Given the description of an element on the screen output the (x, y) to click on. 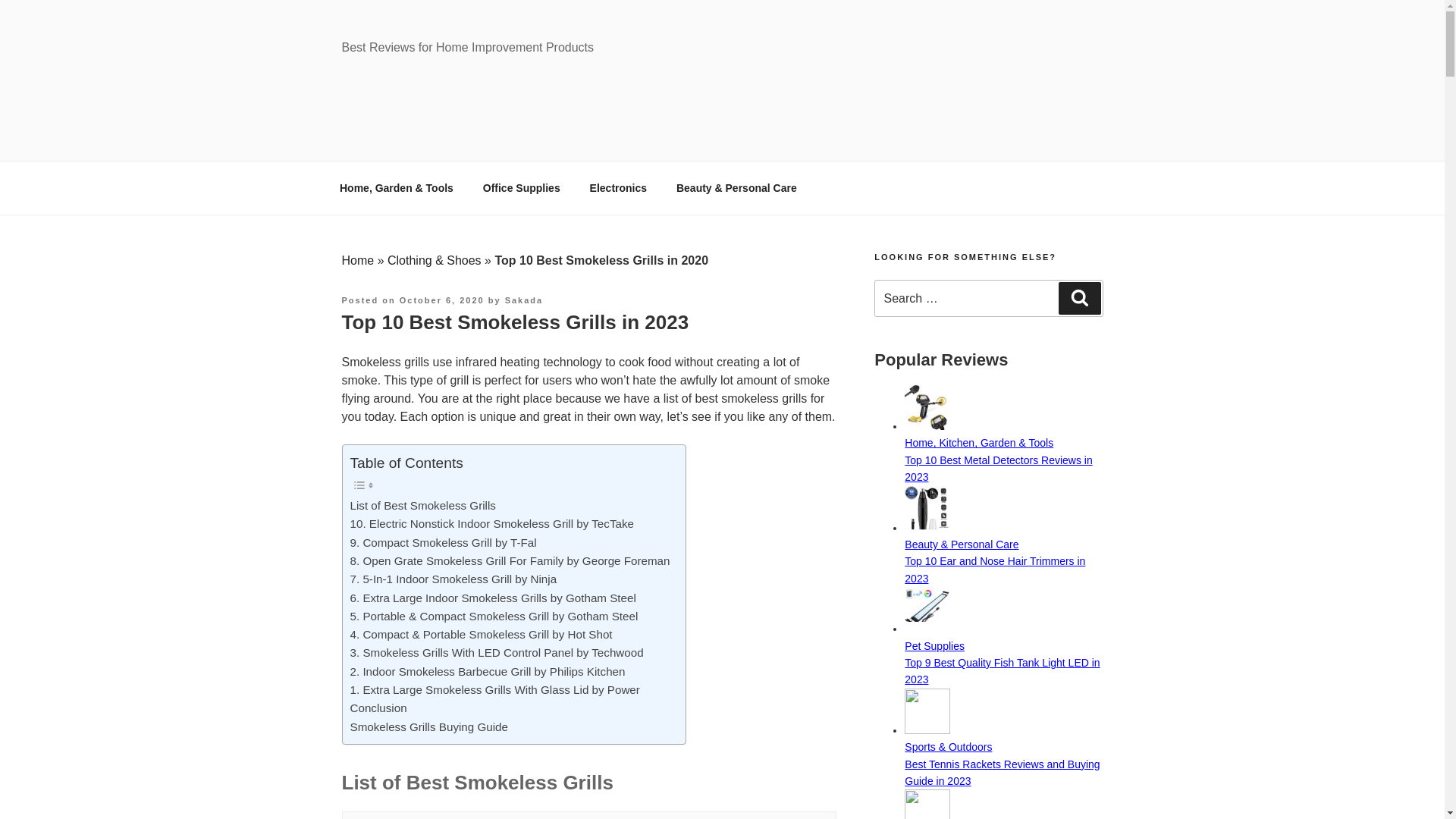
3. Smokeless Grills With LED Control Panel by Techwood (496, 652)
7. 5-In-1 Indoor Smokeless Grill by Ninja (453, 579)
Office Supplies (520, 188)
6. Extra Large Indoor Smokeless Grills by Gotham Steel (493, 597)
8. Open Grate Smokeless Grill For Family by George Foreman (509, 561)
6. Extra Large Indoor Smokeless Grills by Gotham Steel (493, 597)
9. Compact Smokeless Grill by T-Fal (443, 542)
7. 5-In-1 Indoor Smokeless Grill by Ninja (453, 579)
List of Best Smokeless Grills (423, 505)
